Given the description of an element on the screen output the (x, y) to click on. 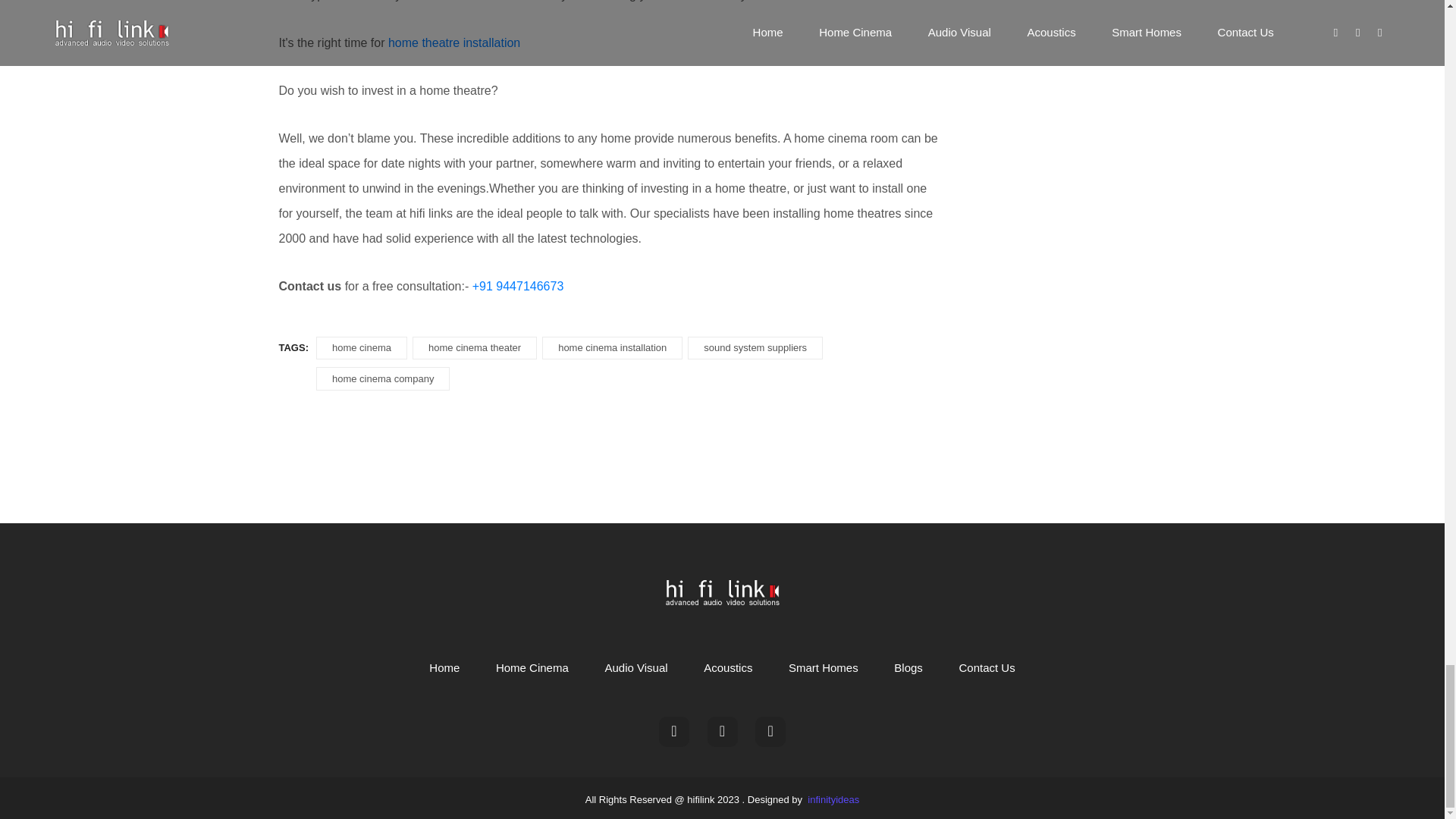
sound system suppliers (754, 348)
infinityideas.org (833, 799)
home cinema company (382, 378)
home cinema (361, 348)
home cinema theater (474, 348)
logo (721, 592)
home cinema installation (611, 348)
Acoustics (727, 668)
Audio Visual (636, 668)
Smart Homes (823, 668)
